Given the description of an element on the screen output the (x, y) to click on. 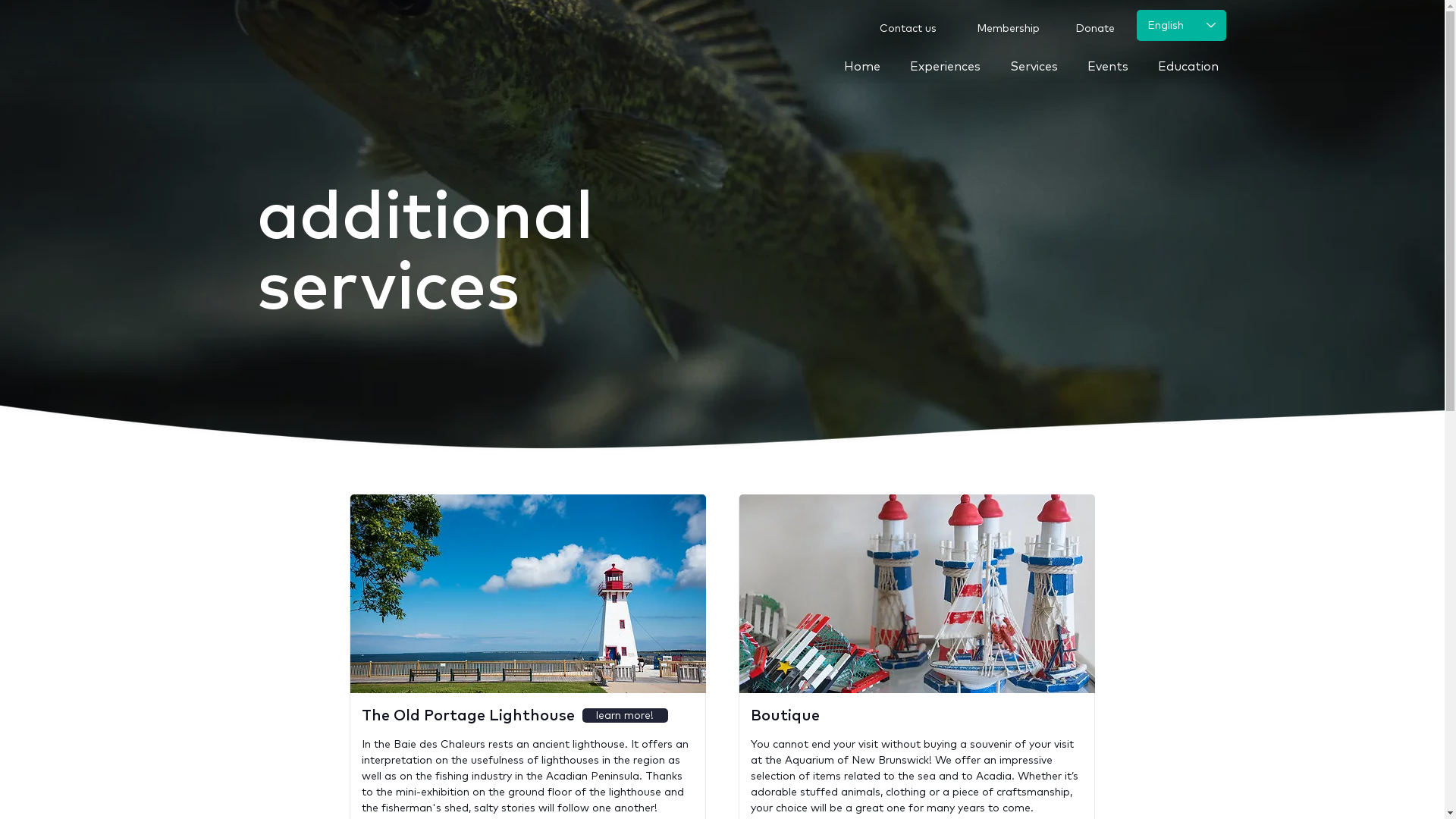
Contact us Element type: text (907, 27)
Services Element type: text (1042, 59)
Experiences Element type: text (953, 59)
Membership Element type: text (1007, 27)
learn more! Element type: text (625, 715)
Education Element type: text (1196, 59)
Home Element type: text (870, 59)
Events Element type: text (1116, 59)
Donate Element type: text (1094, 27)
